Given the description of an element on the screen output the (x, y) to click on. 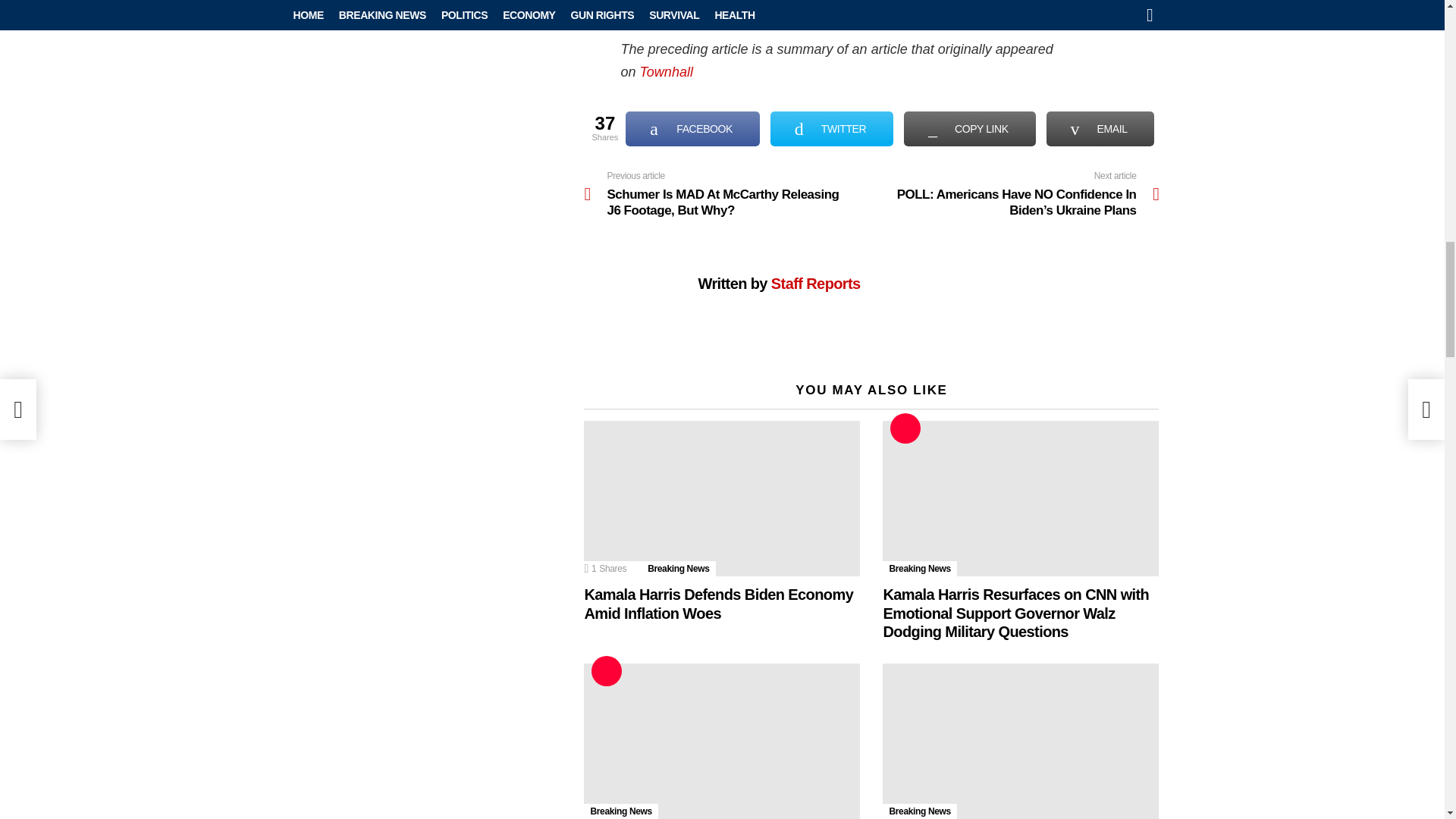
Share on Copy Link (969, 128)
Kamala Harris Defends Biden Economy Amid Inflation Woes (721, 498)
Share on Email (1100, 128)
Share on Twitter (831, 128)
Trending (904, 428)
Share on Facebook (693, 128)
